Given the description of an element on the screen output the (x, y) to click on. 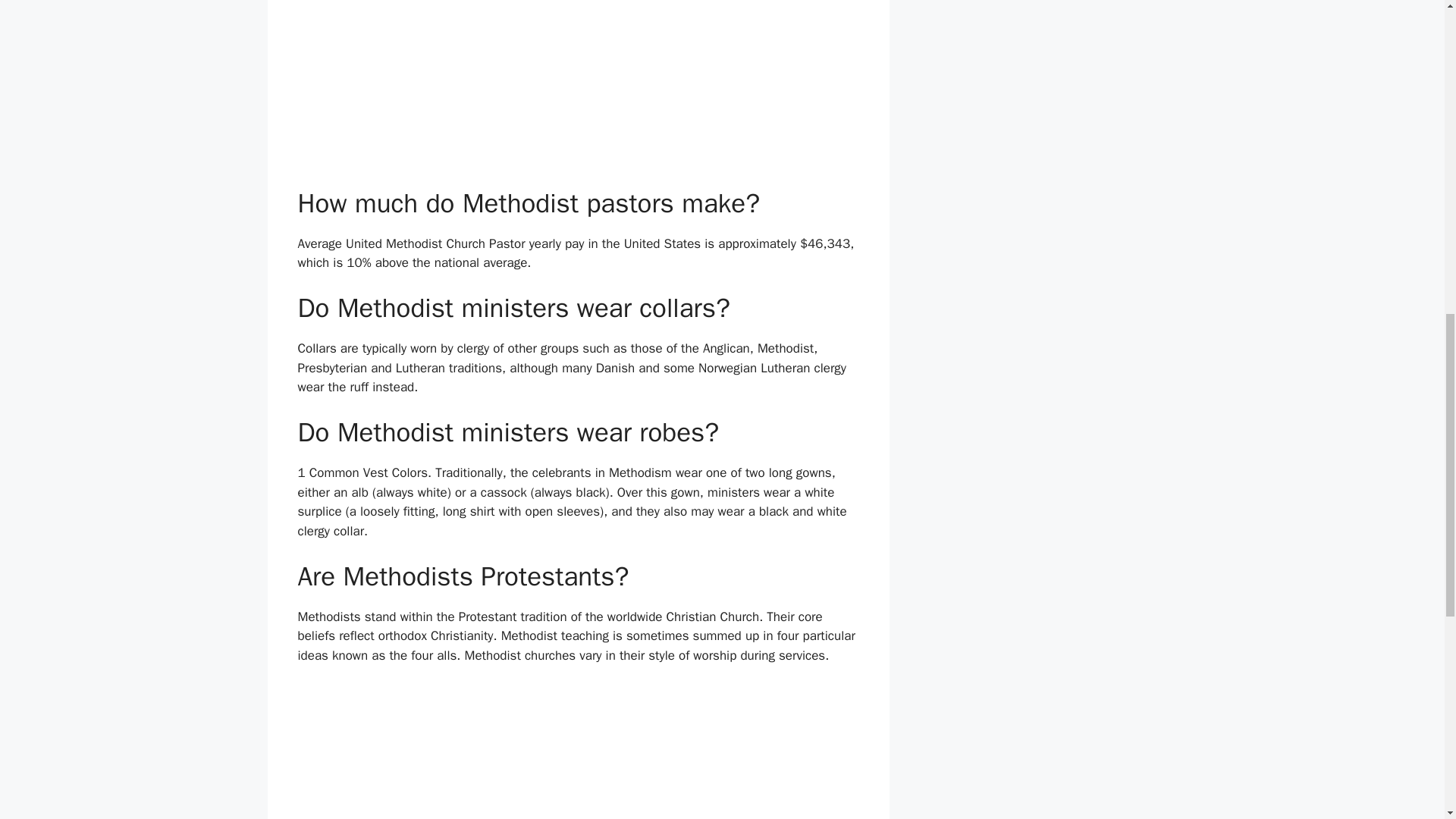
Scroll back to top (1406, 720)
